Given the description of an element on the screen output the (x, y) to click on. 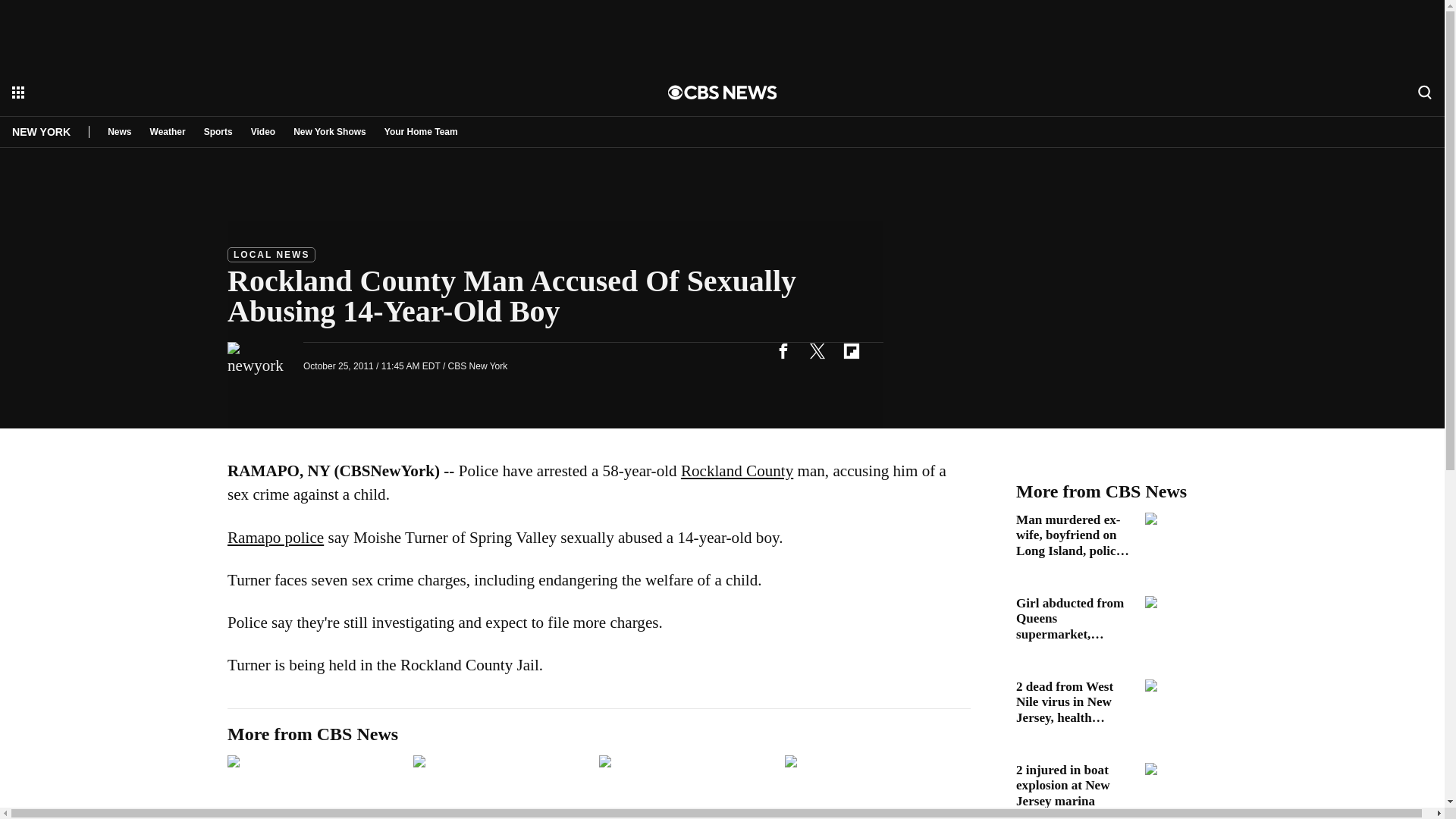
twitter (816, 350)
facebook (782, 350)
flipboard (850, 350)
